Given the description of an element on the screen output the (x, y) to click on. 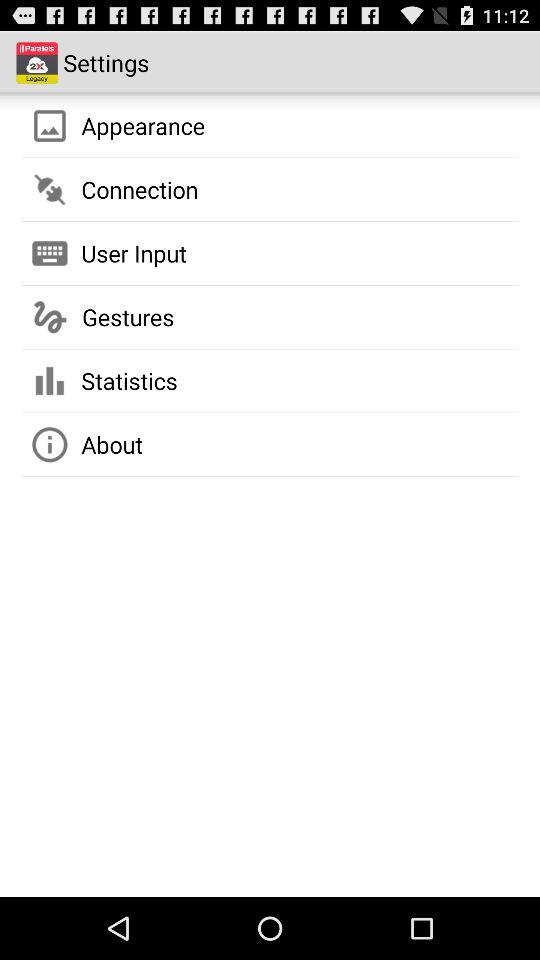
select icon below the gestures item (129, 380)
